Given the description of an element on the screen output the (x, y) to click on. 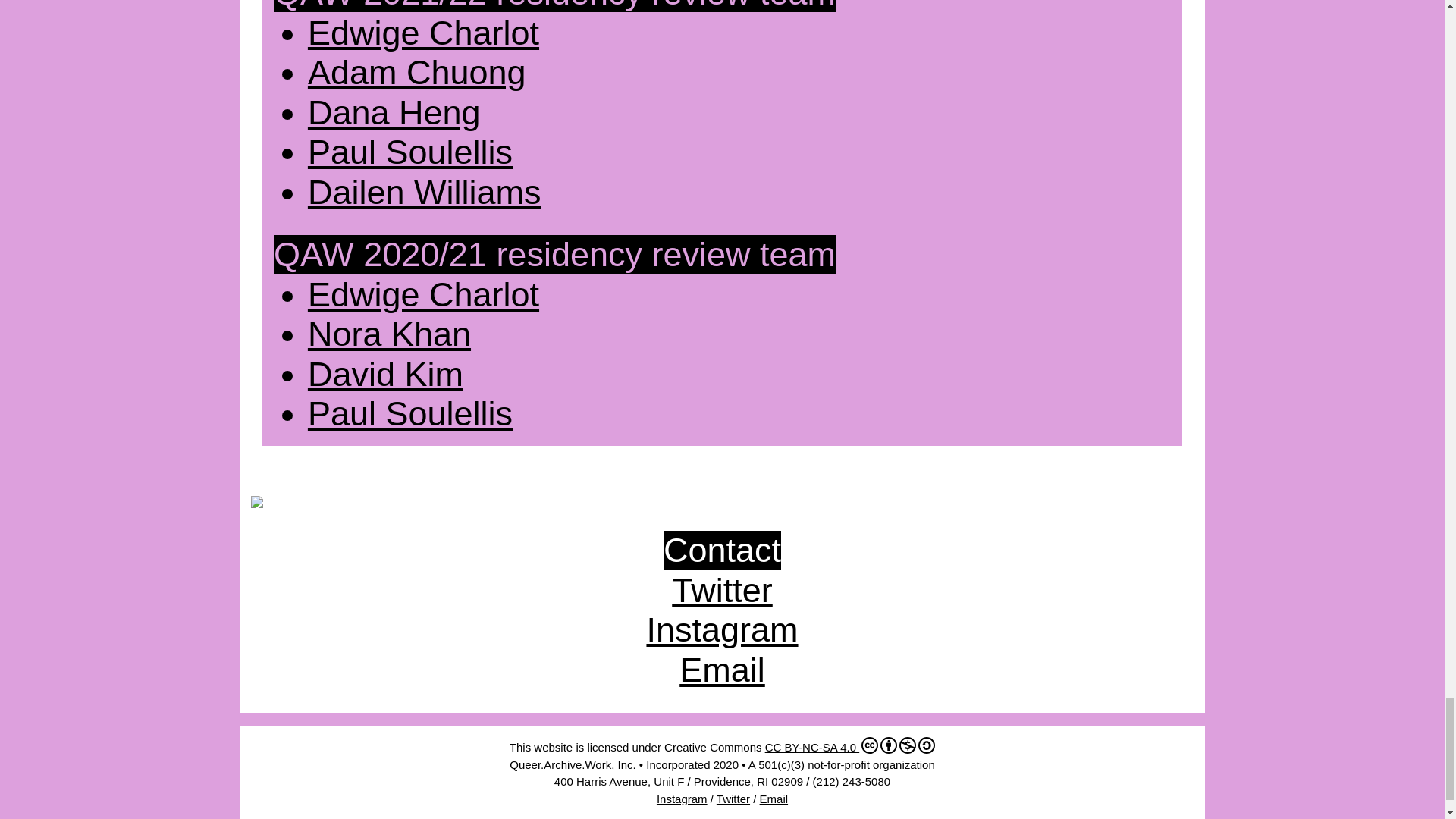
Edwige Charlot (422, 32)
Nora Khan (388, 333)
Dana Heng (393, 112)
Email (774, 798)
David Kim (385, 373)
Adam Chuong (416, 72)
Queer.Archive.Work, Inc. (571, 764)
Dailen Williams (424, 191)
Edwige Charlot (422, 294)
Paul Soulellis (409, 413)
Twitter (722, 589)
Paul Soulellis (409, 151)
Instagram (681, 798)
Email (722, 669)
Instagram (721, 629)
